Given the description of an element on the screen output the (x, y) to click on. 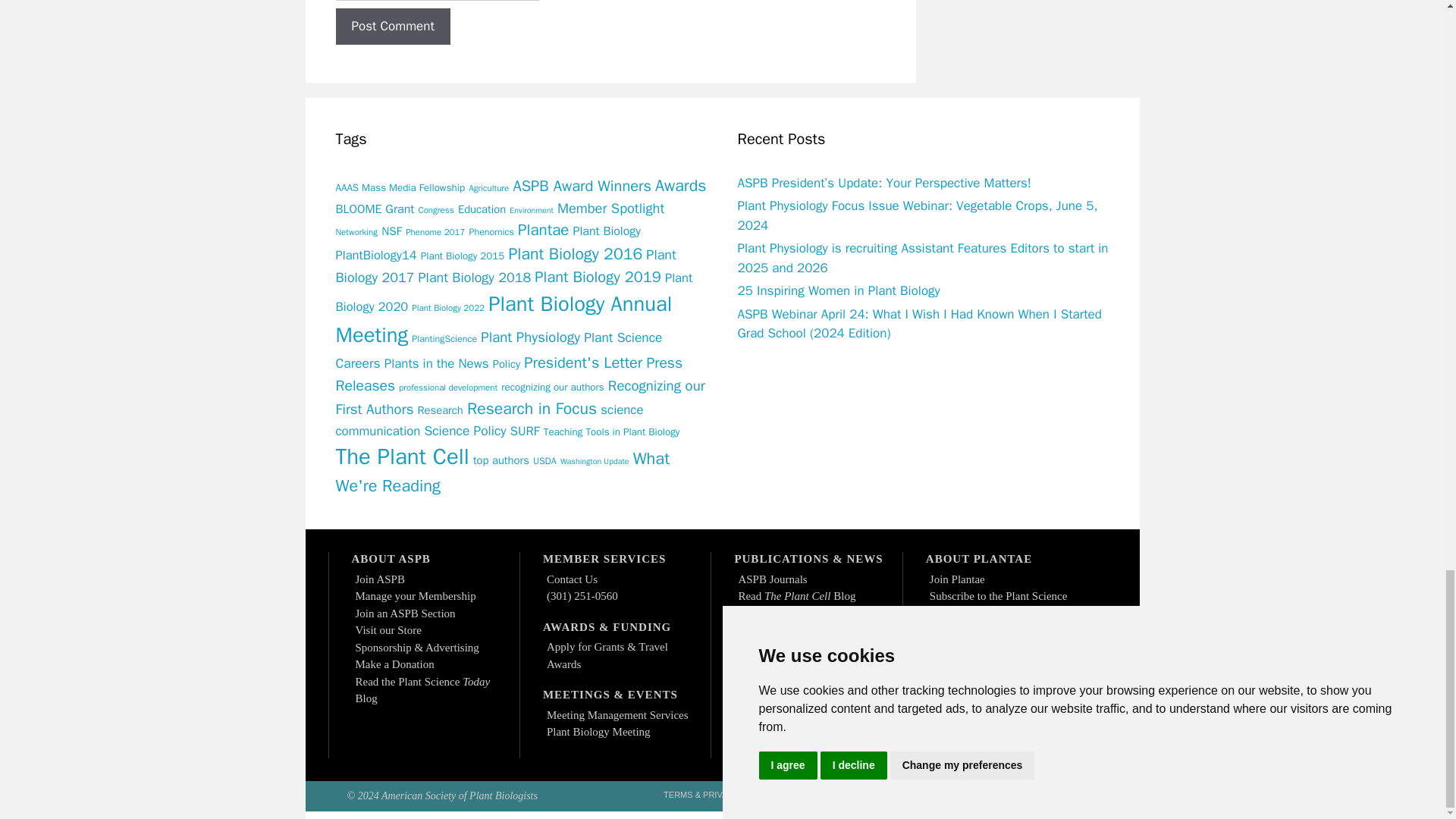
Post Comment (391, 26)
Agriculture (488, 187)
Post Comment (391, 26)
AAAS Mass Media Fellowship (399, 187)
